Given the description of an element on the screen output the (x, y) to click on. 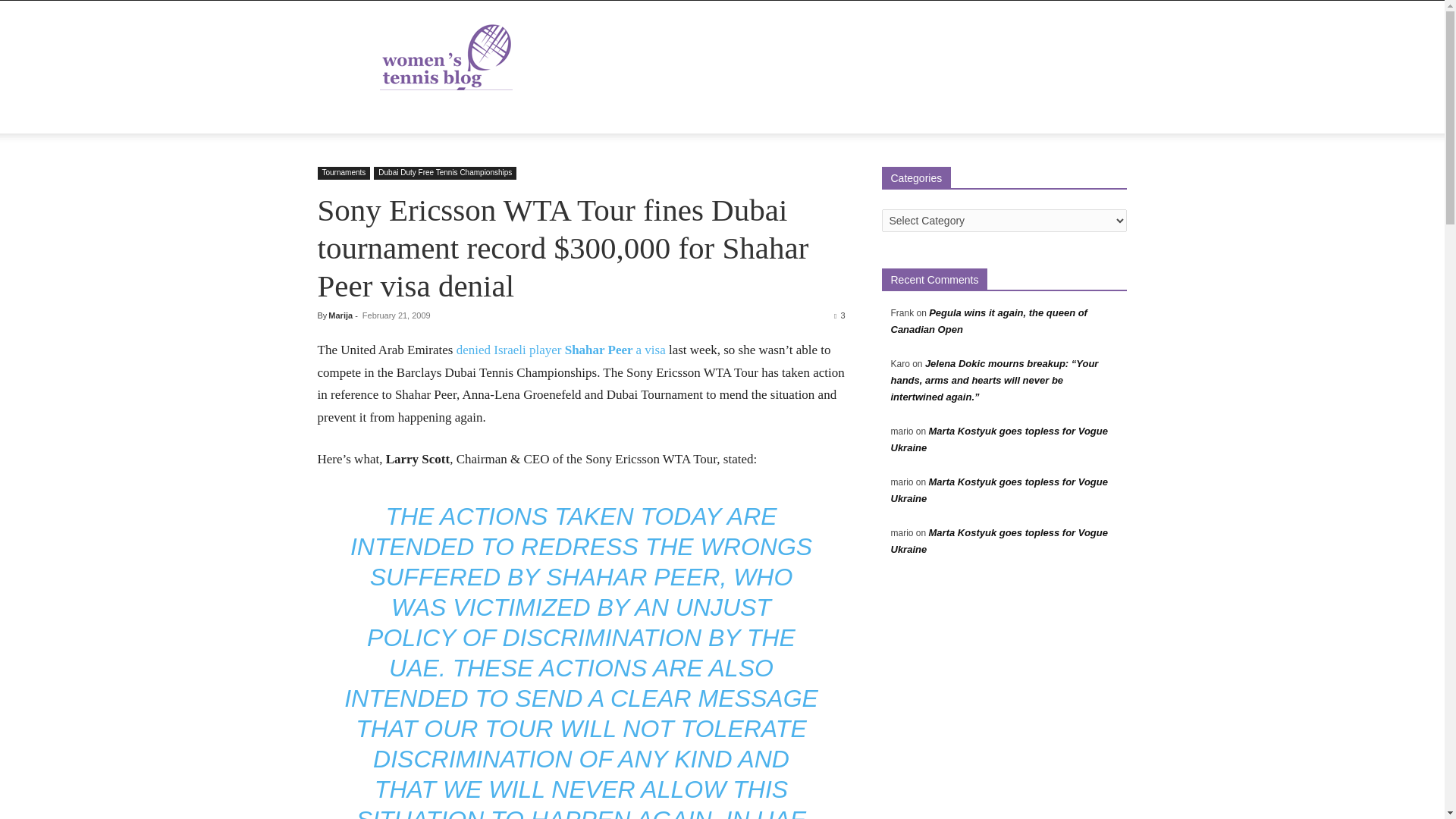
About (389, 115)
Subscribe (728, 115)
Contact Us (659, 115)
Search (1085, 175)
Home (341, 115)
Featured (445, 115)
